Given the description of an element on the screen output the (x, y) to click on. 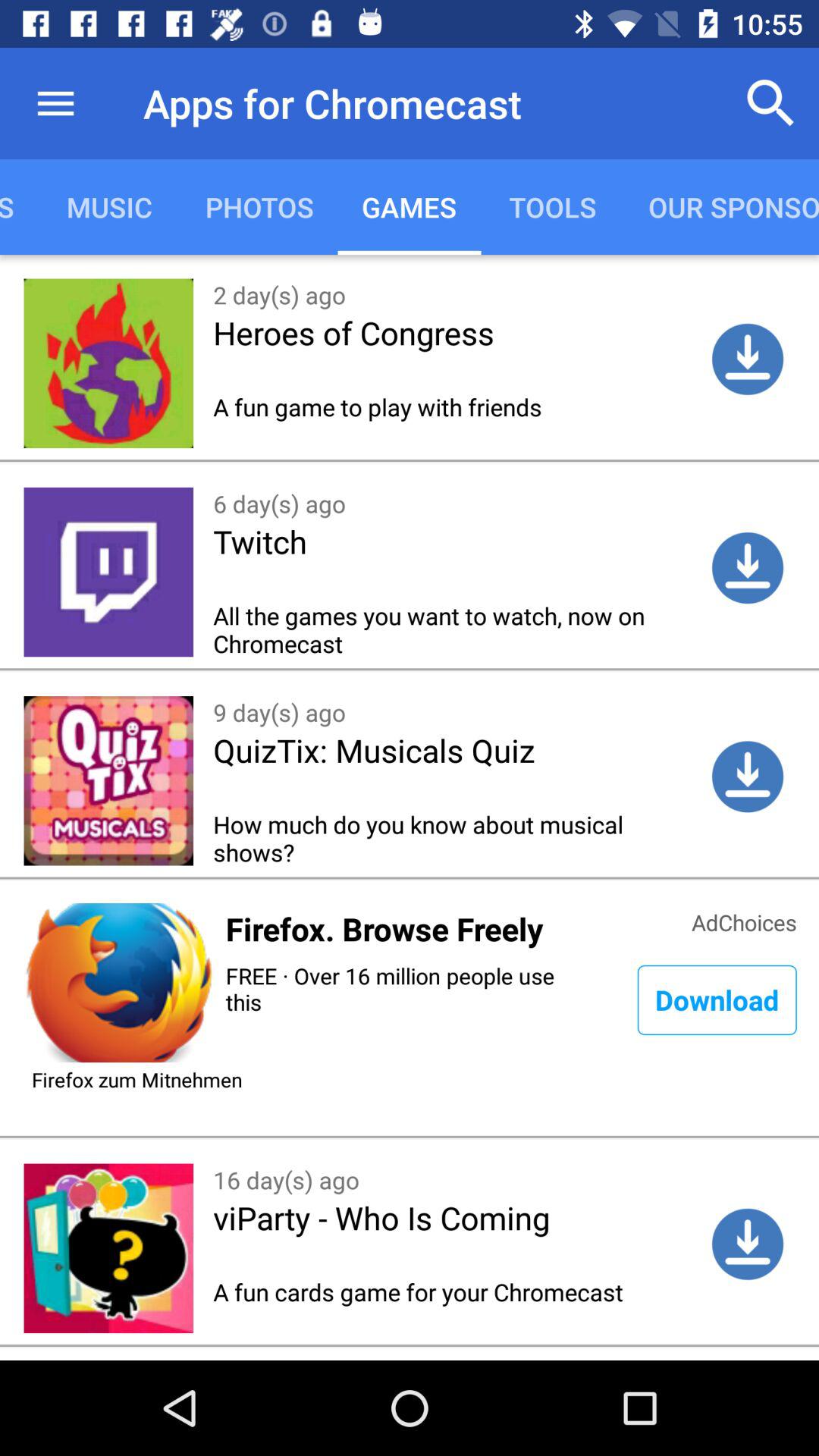
press icon above the our sponsors icon (771, 103)
